Given the description of an element on the screen output the (x, y) to click on. 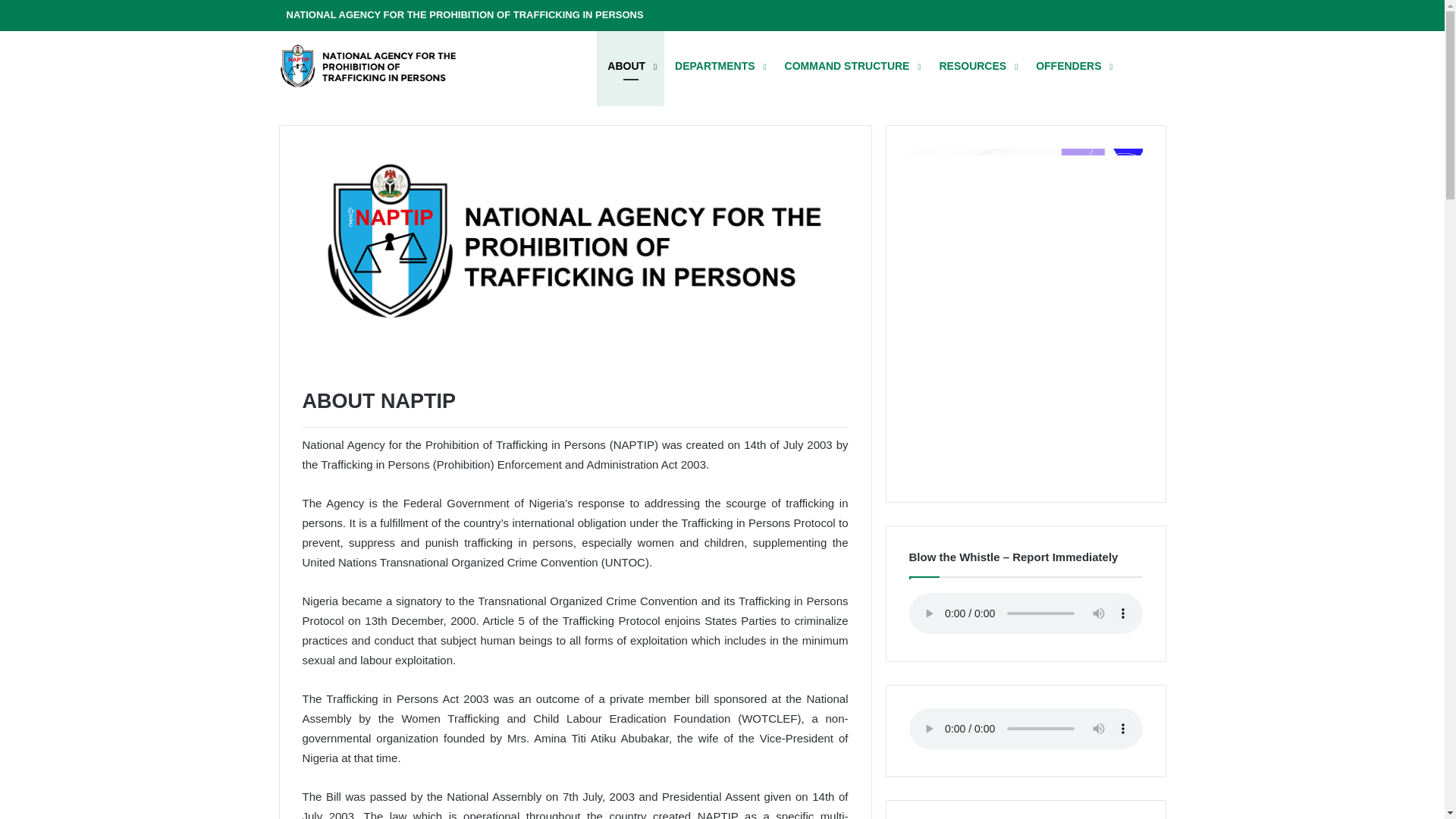
NAPTIP (392, 65)
COMMAND STRUCTURE (851, 66)
DEPARTMENTS (718, 66)
ABOUT (629, 66)
